Given the description of an element on the screen output the (x, y) to click on. 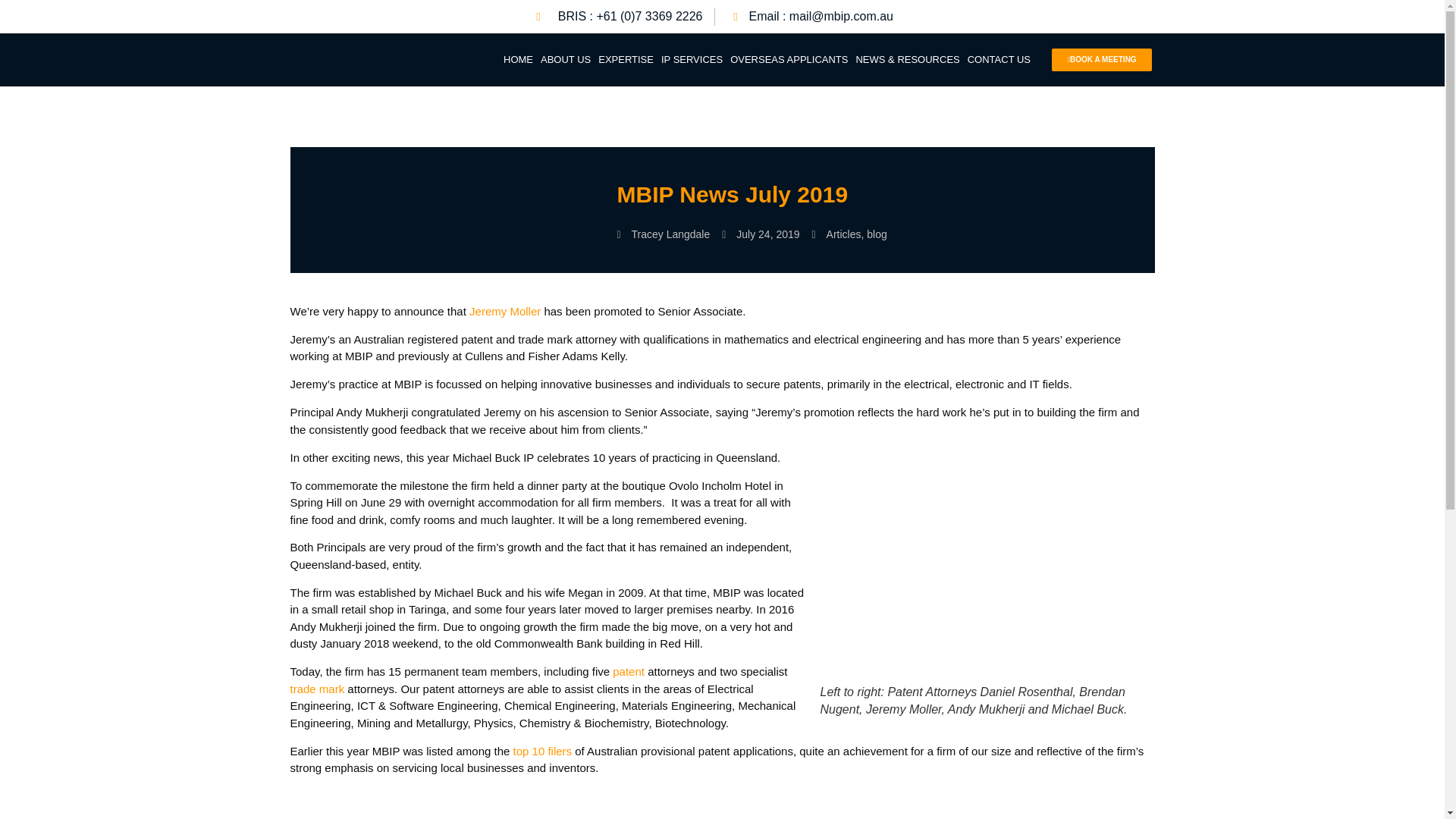
IP SERVICES (691, 59)
ABOUT US (565, 59)
EXPERTISE (625, 59)
HOME (517, 59)
